Given the description of an element on the screen output the (x, y) to click on. 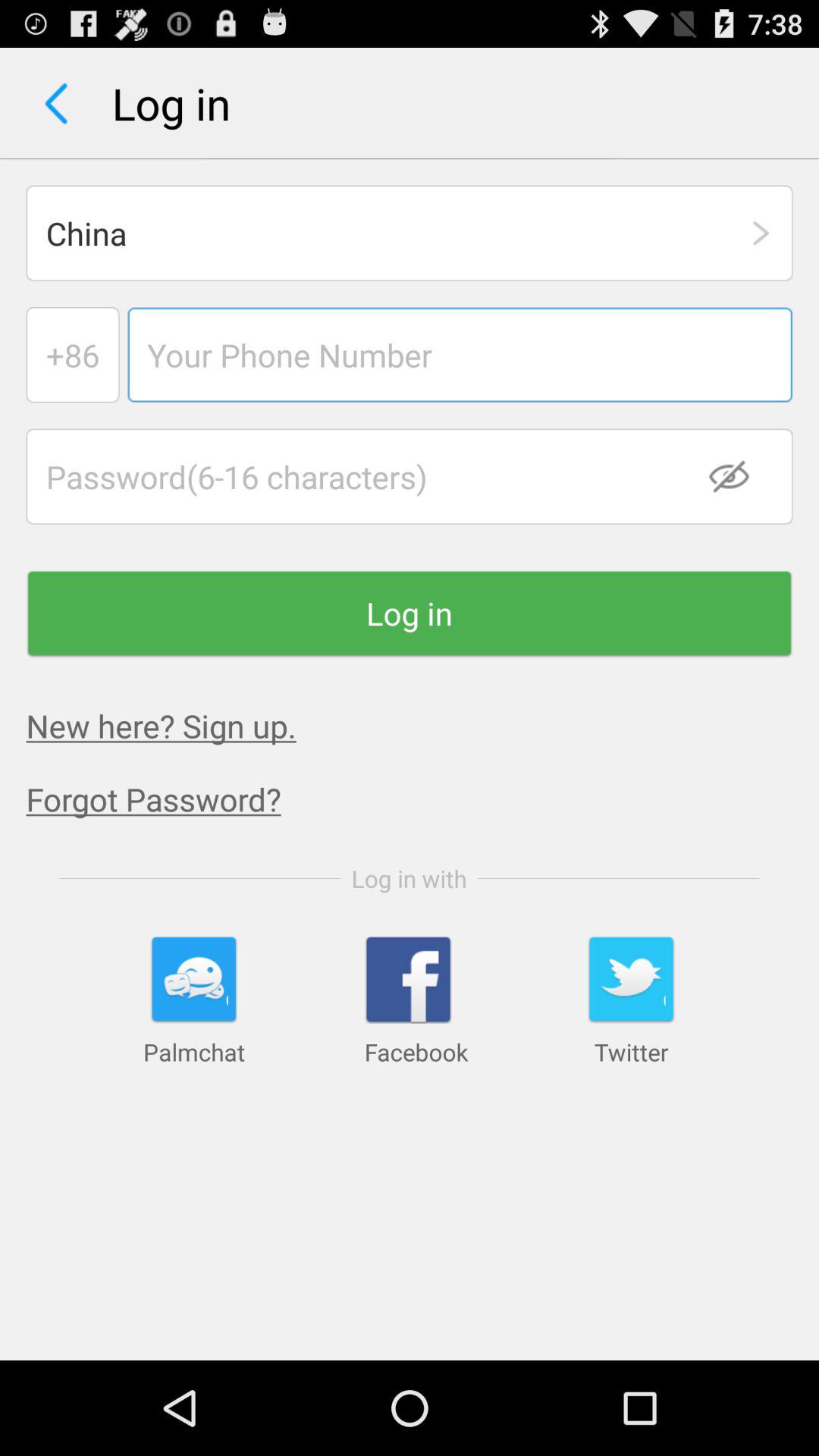
turn off the icon next to the log in (56, 103)
